Given the description of an element on the screen output the (x, y) to click on. 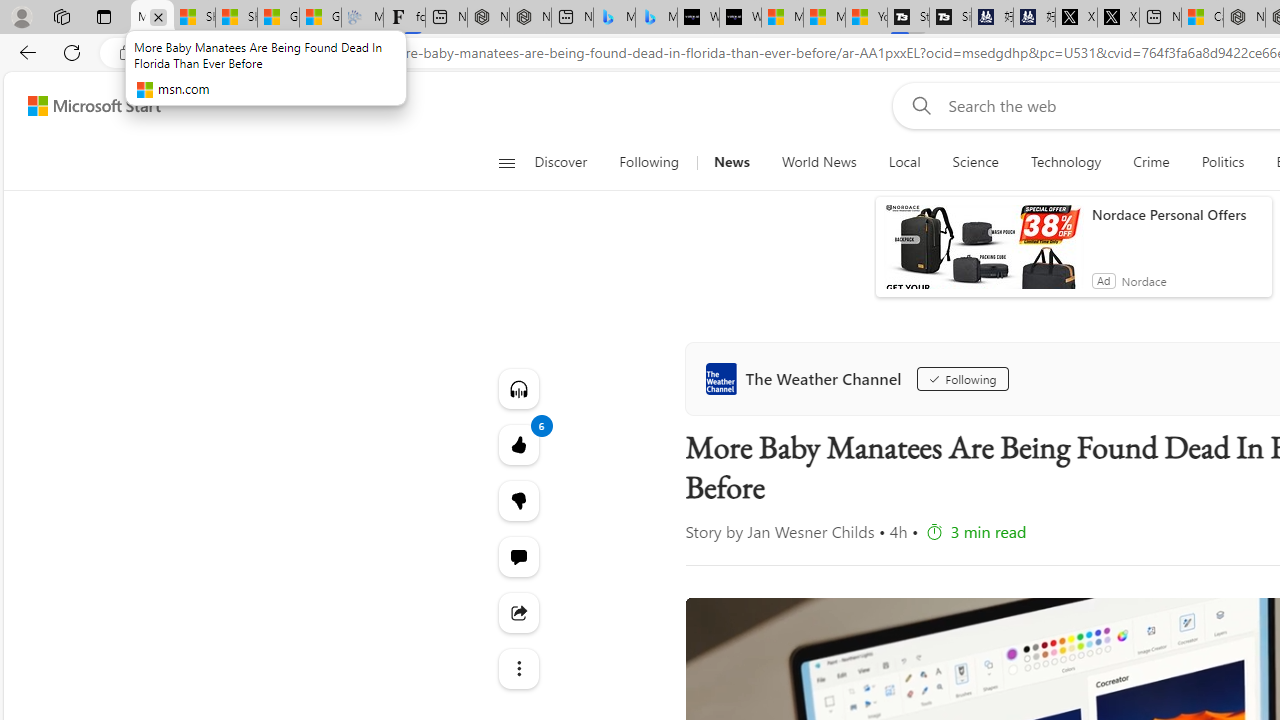
Close tab (157, 16)
Crime (1151, 162)
New tab (1160, 17)
World News (818, 162)
Class: button-glyph (505, 162)
Politics (1222, 162)
6 Like (517, 444)
Science (975, 162)
Refresh (72, 52)
Listen to this article (517, 388)
Technology (1065, 162)
Following (962, 378)
Share this story (517, 612)
Web search (917, 105)
